Given the description of an element on the screen output the (x, y) to click on. 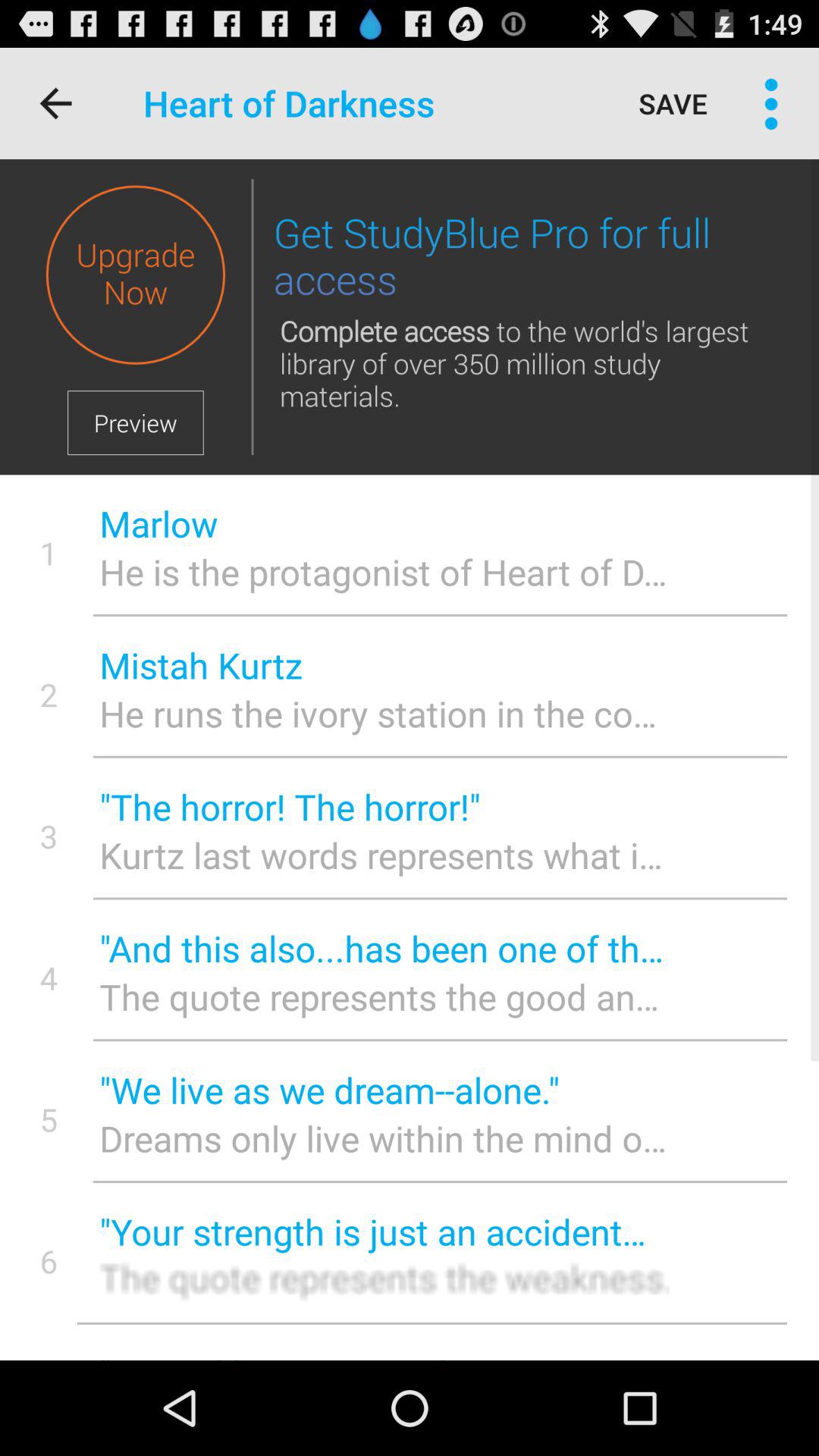
turn on the 3 item (48, 835)
